Given the description of an element on the screen output the (x, y) to click on. 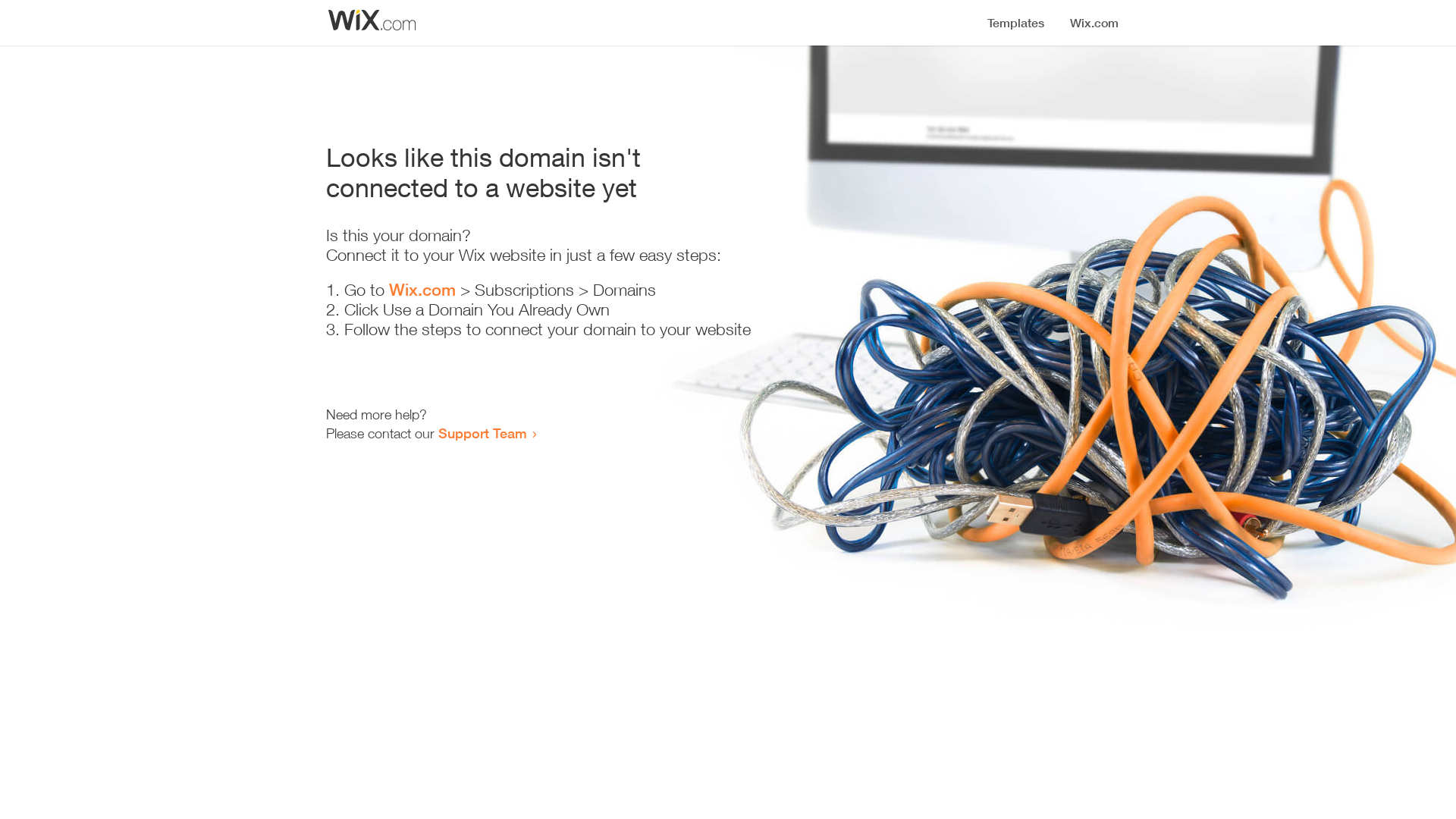
Support Team Element type: text (482, 432)
Wix.com Element type: text (422, 289)
